Given the description of an element on the screen output the (x, y) to click on. 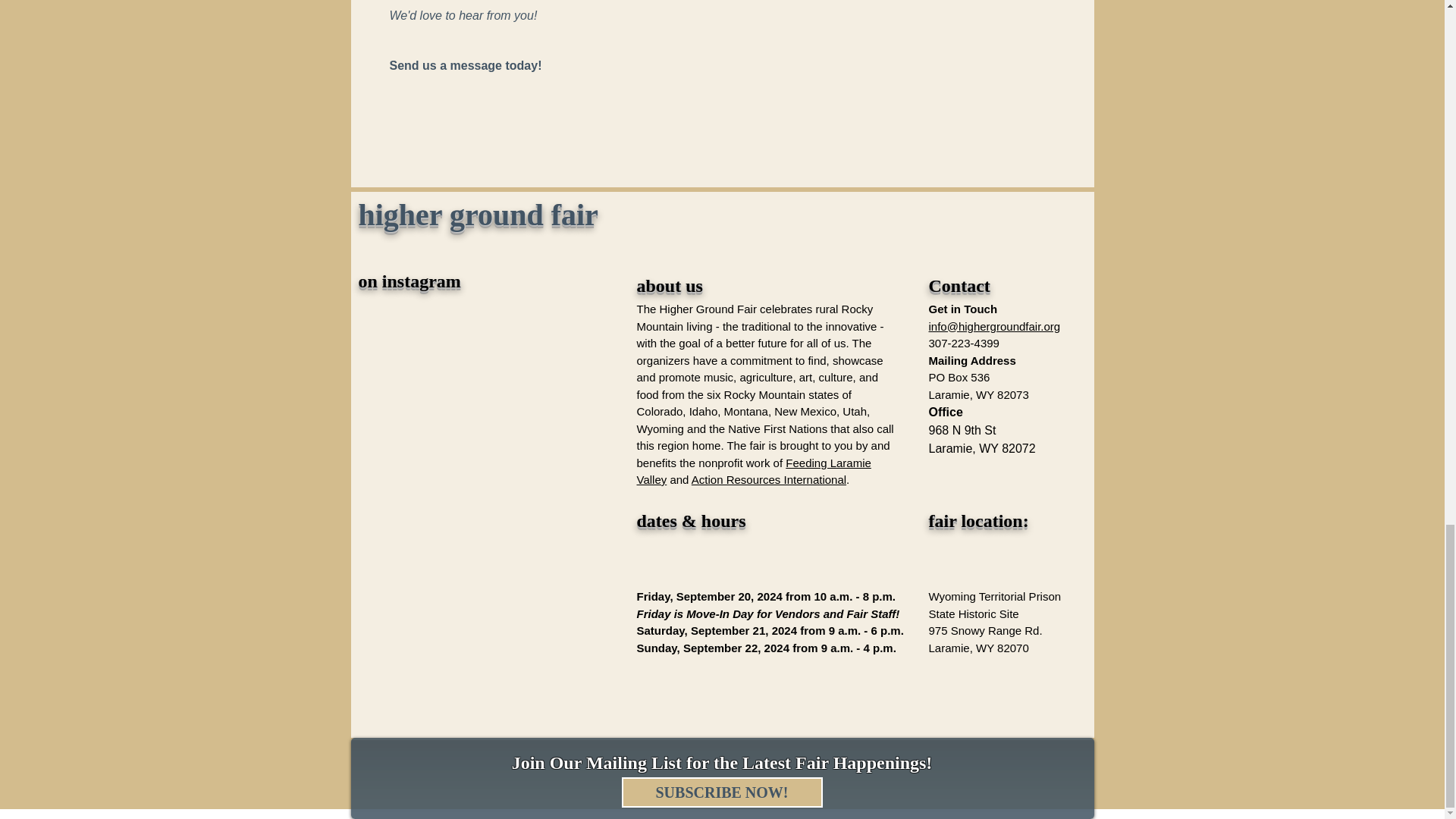
Feeding Laramie Valley (753, 471)
Action Resources International (768, 479)
higher ground fair (477, 214)
